Given the description of an element on the screen output the (x, y) to click on. 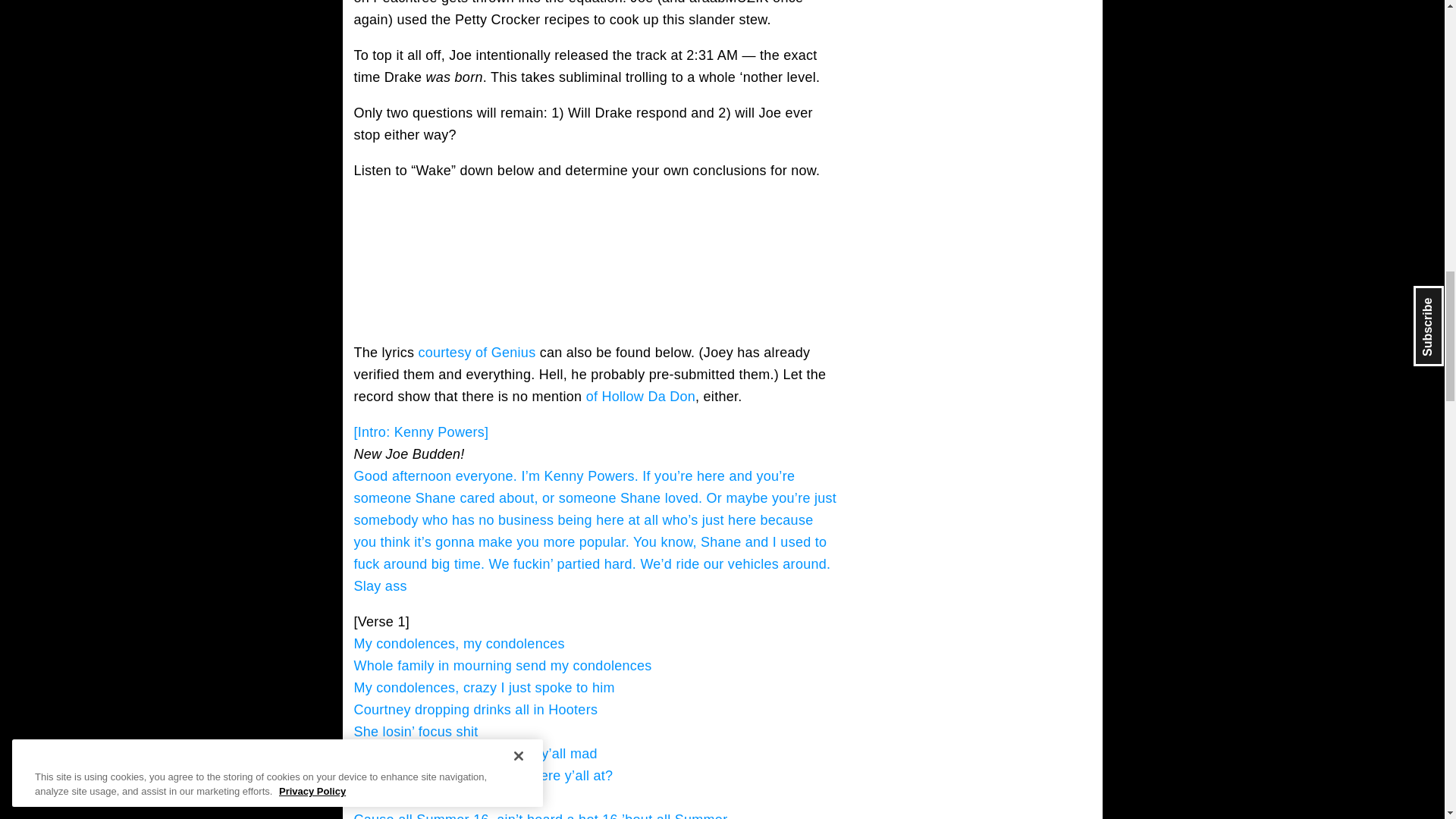
courtesy of Genius (476, 352)
of Hollow Da Don (640, 396)
